Given the description of an element on the screen output the (x, y) to click on. 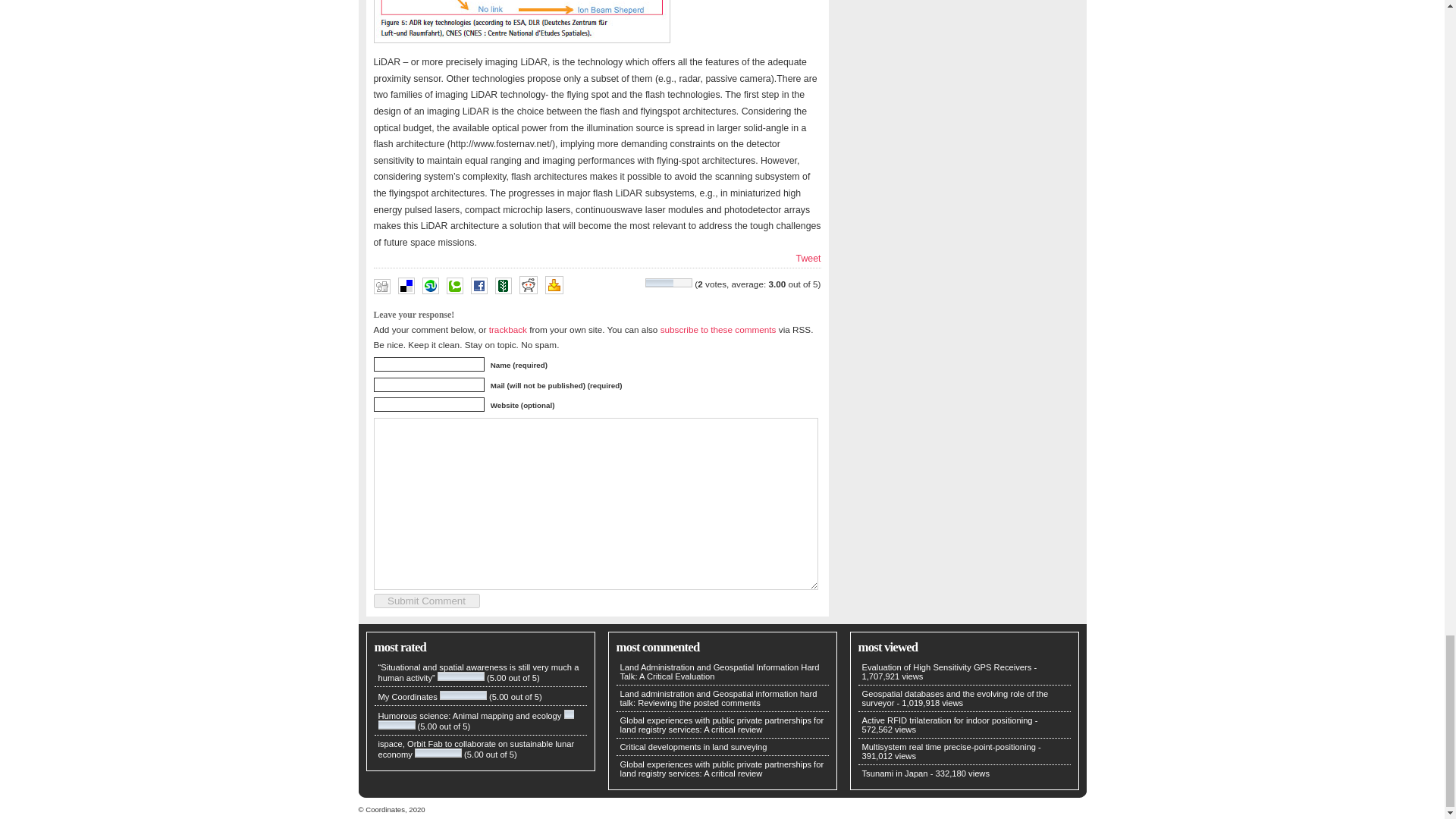
Submit Comment (425, 600)
Tweet (808, 258)
Submit Comment (425, 600)
Add to del.icio.us! (405, 285)
Stumble this! (430, 285)
Digg this! (381, 286)
r1 (520, 21)
